Given the description of an element on the screen output the (x, y) to click on. 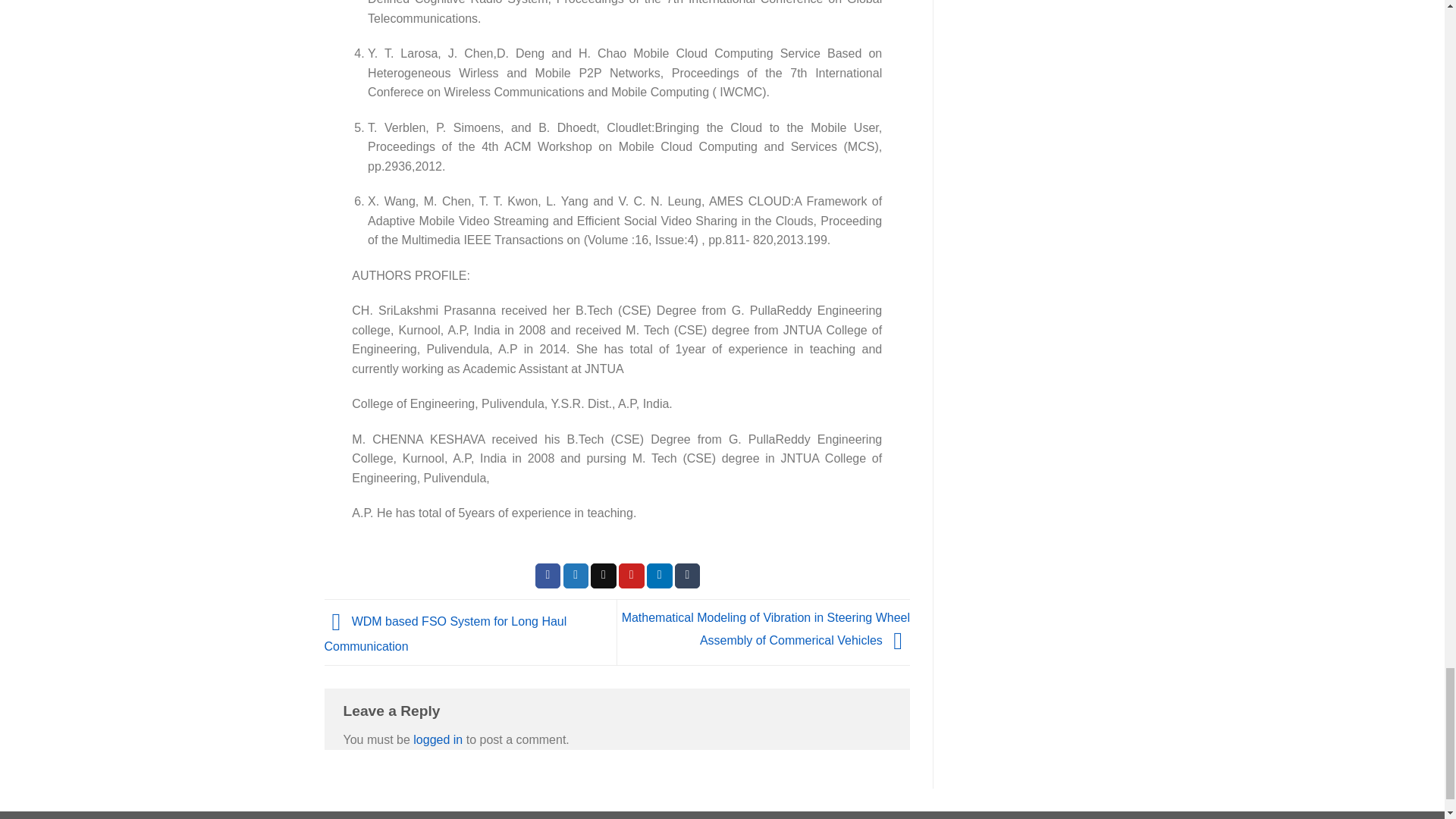
Email to a Friend (603, 575)
Share on Tumblr (687, 575)
Share on Twitter (576, 575)
Pin on Pinterest (631, 575)
Share on LinkedIn (659, 575)
Share on Facebook (547, 575)
